Given the description of an element on the screen output the (x, y) to click on. 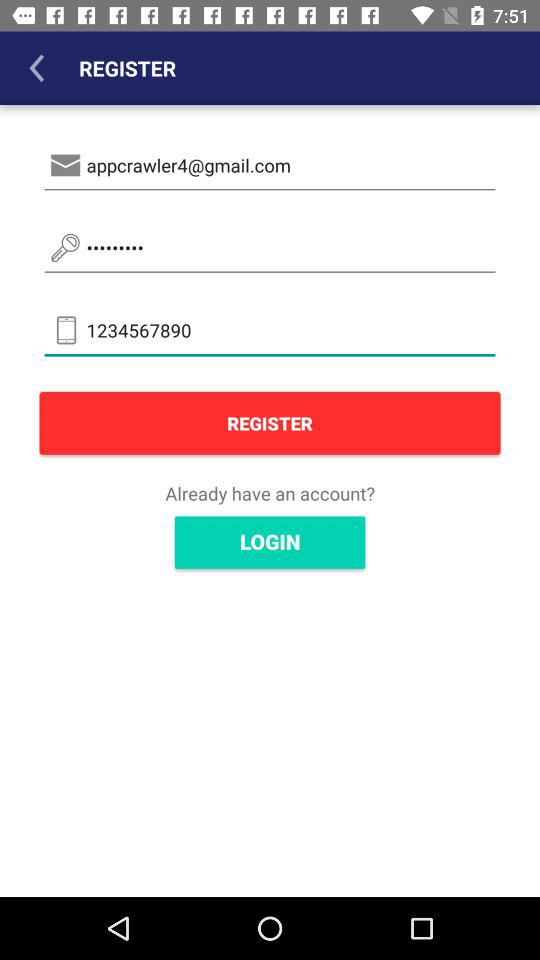
launch icon above login item (269, 493)
